Given the description of an element on the screen output the (x, y) to click on. 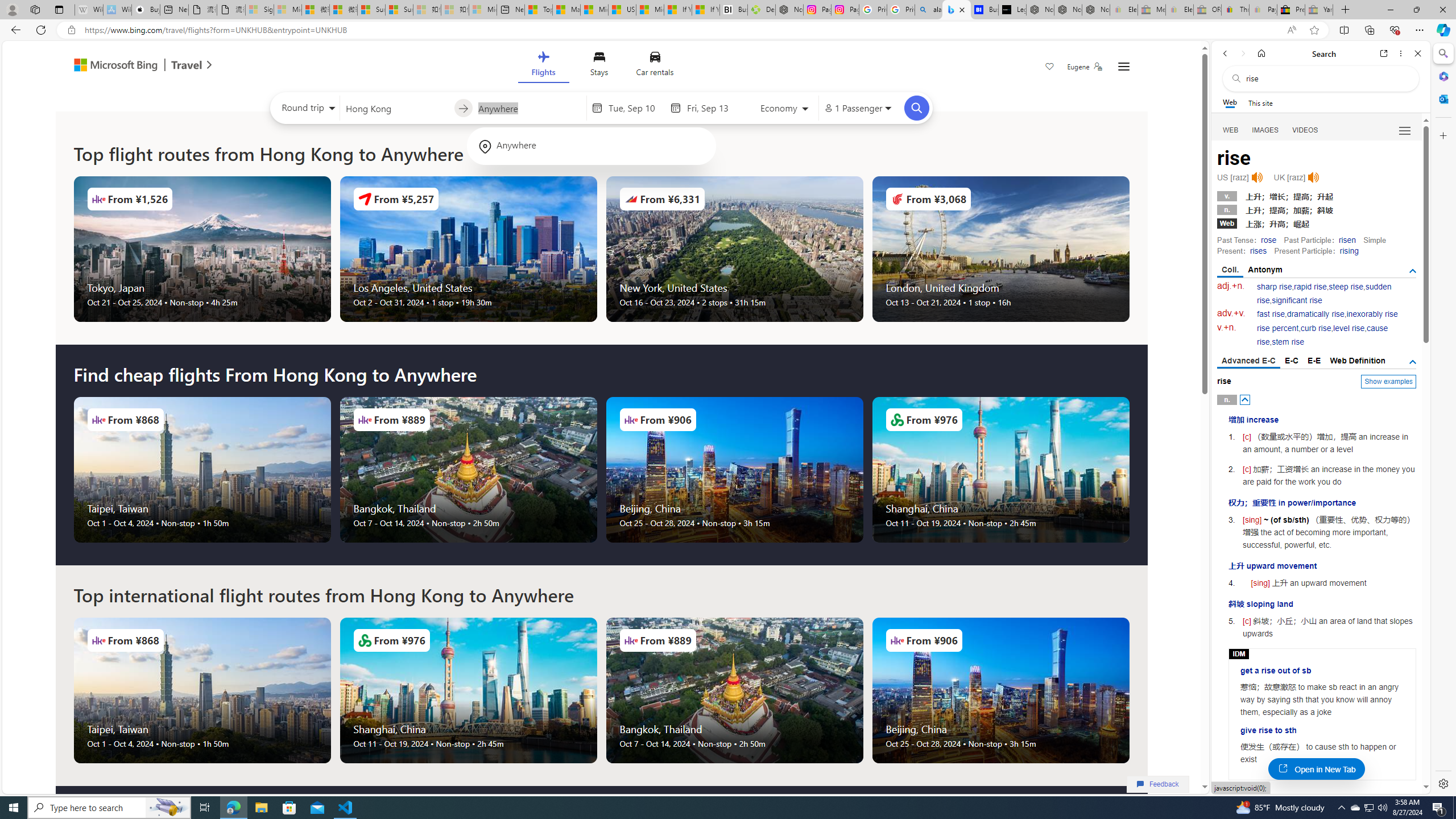
Select class of service (784, 109)
Travel (186, 65)
alabama high school quarterback dies - Search (928, 9)
Going to? (528, 107)
Microsoft Bing (110, 65)
Wikipedia - Sleeping (88, 9)
Yard, Garden & Outdoor Living - Sleeping (1319, 9)
Class: b_serphb (1404, 130)
Airlines Logo (896, 640)
Marine life - MSN (566, 9)
IMAGES (1265, 130)
cause rise (1322, 335)
